Given the description of an element on the screen output the (x, y) to click on. 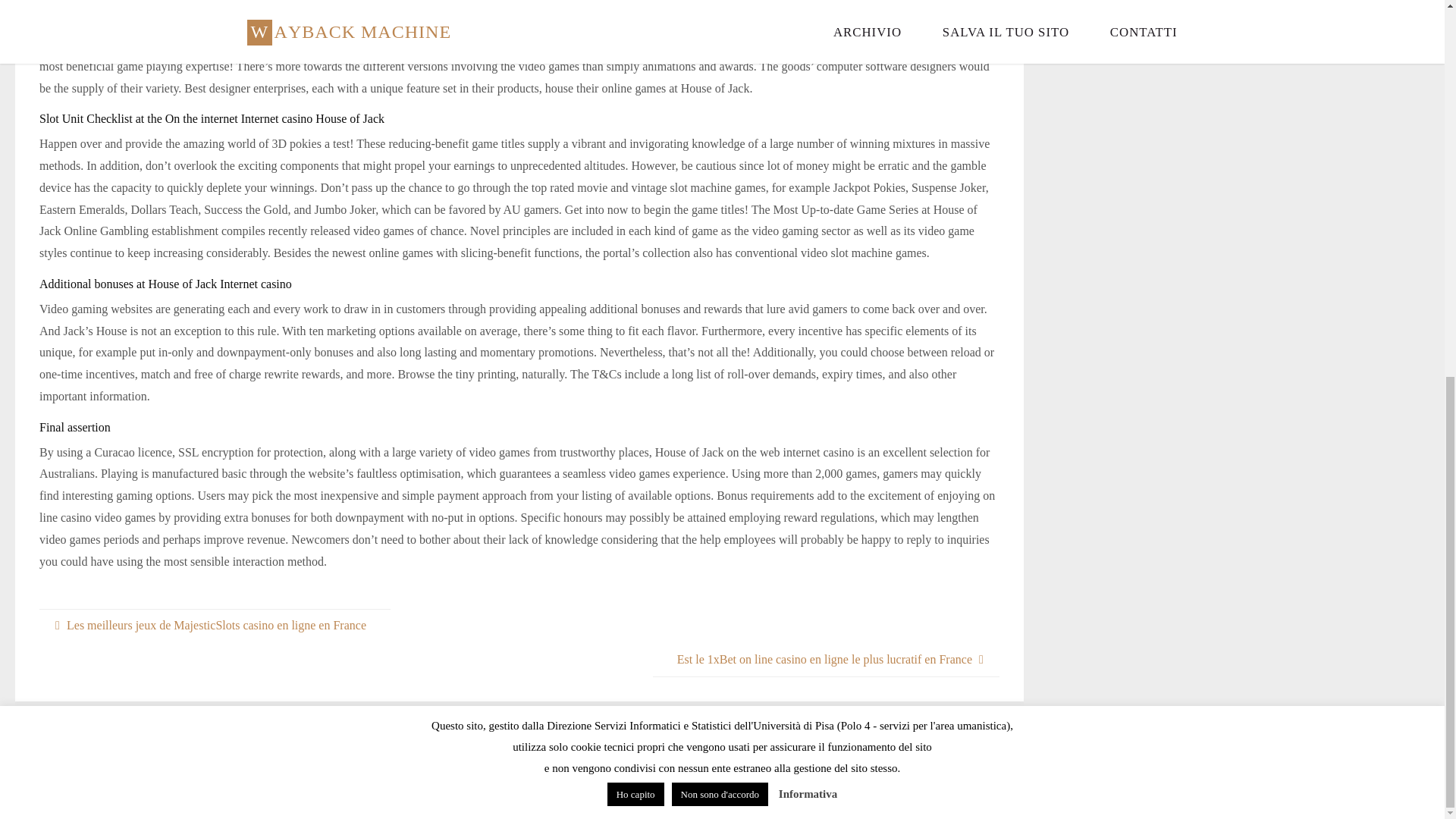
Informativa (808, 97)
Fluida WordPress Theme by Cryout Creations (1123, 784)
WordPress. (1177, 784)
Ho capito (635, 97)
Piattaforma personale di pubblicazione semantica (1177, 784)
Fluida (1123, 784)
Non sono d'accordo (719, 97)
